Given the description of an element on the screen output the (x, y) to click on. 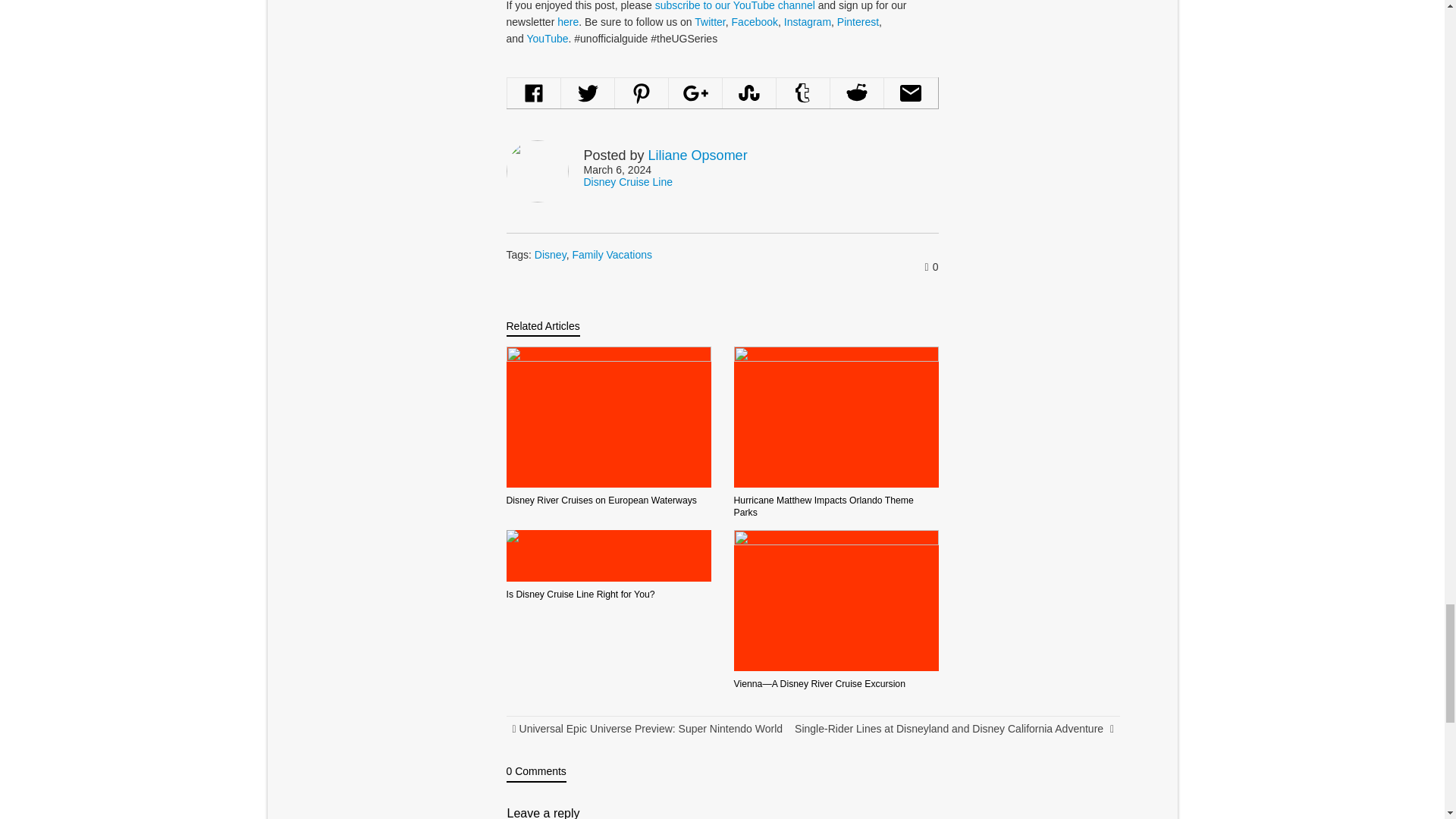
Twitter (709, 21)
Permanent Link to Is Disney Cruise Line Right for You? (580, 593)
Instagram (807, 21)
Facebook (754, 21)
subscribe to our YouTube channel (735, 5)
Permanent Link to Disney River Cruises on European Waterways (601, 500)
here (567, 21)
